Given the description of an element on the screen output the (x, y) to click on. 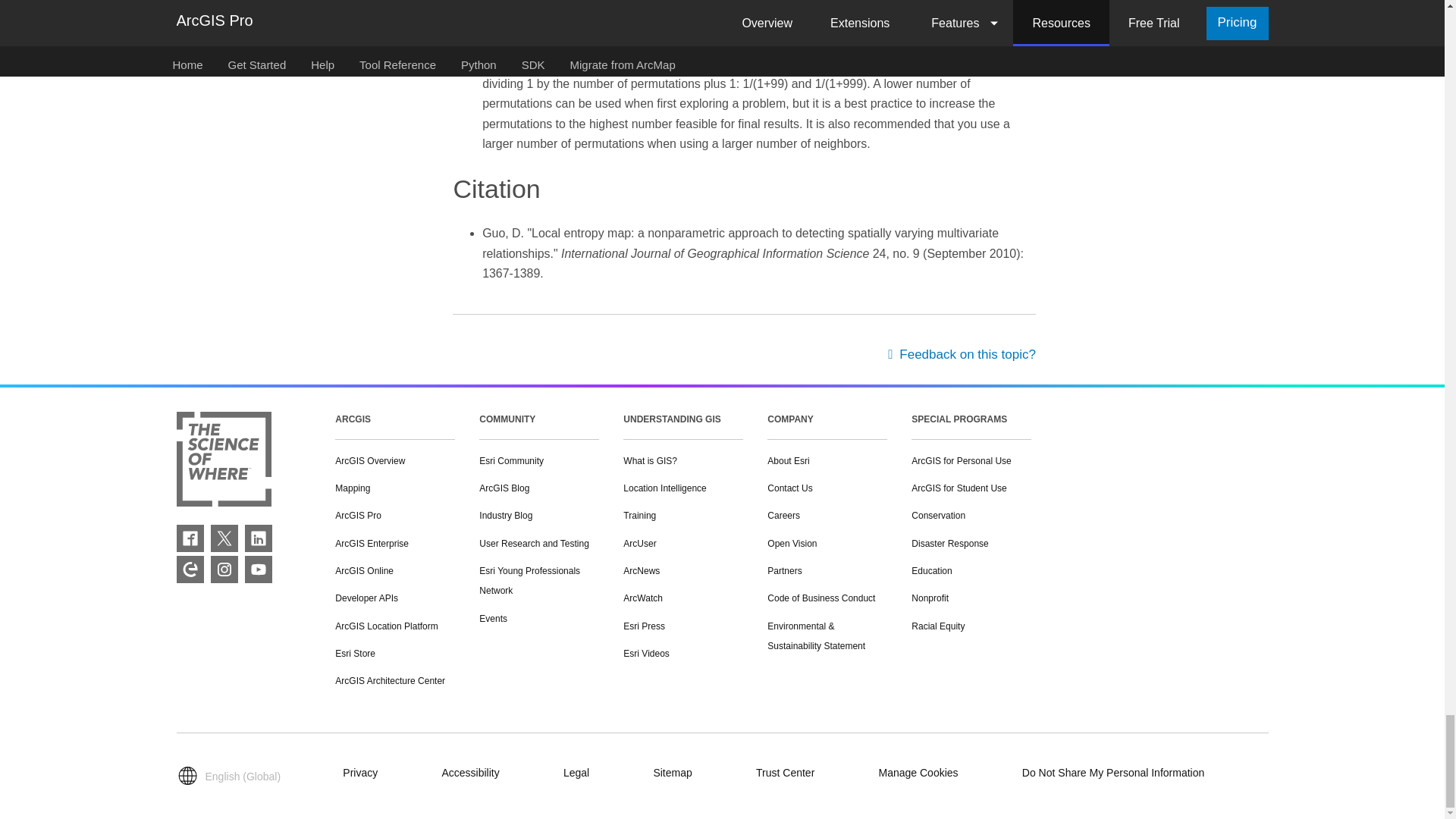
More about Esri and the Science of Where (223, 461)
InstagramInstagram (224, 569)
Twitter (224, 538)
FacebookFacebook (189, 538)
Esri CommunityEsri Community (189, 569)
TwitterTwitter (224, 538)
LinkedInLinkedIn (257, 538)
Facebook (189, 538)
LinkedIn (257, 538)
